Given the description of an element on the screen output the (x, y) to click on. 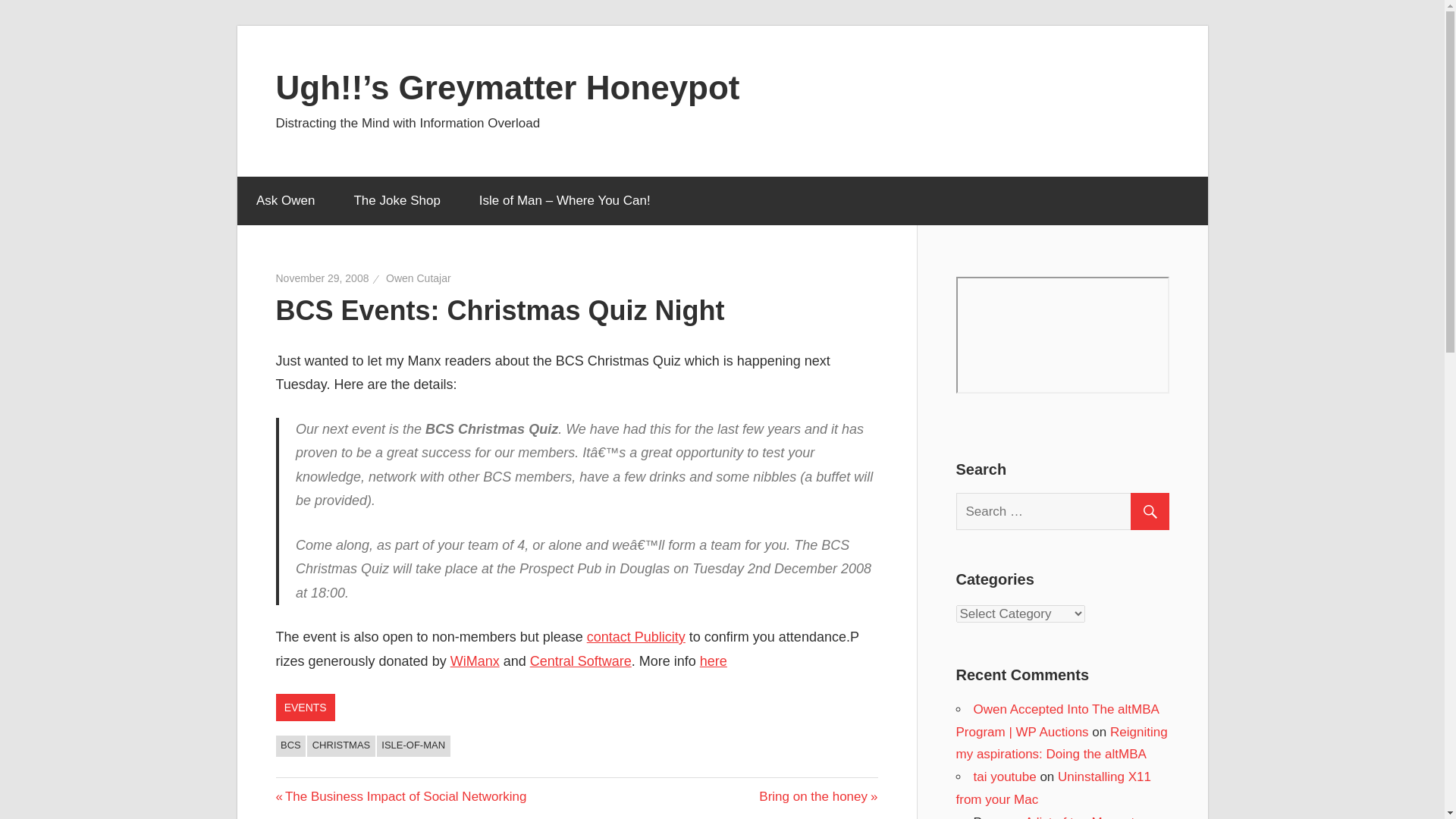
Uninstalling X11 from your Mac (1052, 787)
Ask Owen (284, 200)
The Joke Shop (397, 200)
here (713, 661)
Owen Cutajar (418, 277)
WiManx (401, 796)
5:53 am (474, 661)
View all posts by Owen Cutajar (322, 277)
